Given the description of an element on the screen output the (x, y) to click on. 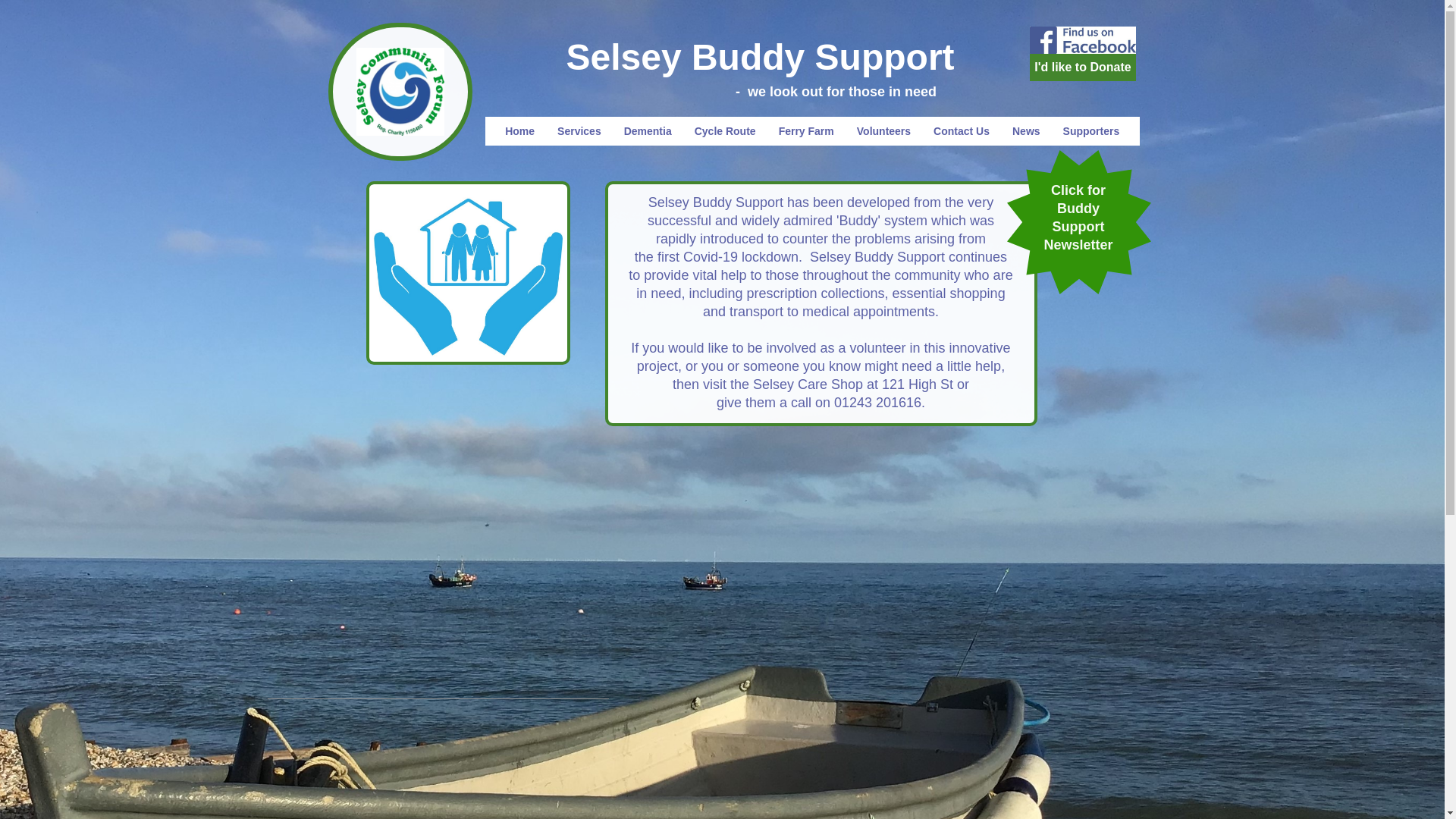
Contact Us (961, 131)
Volunteers (883, 131)
News (1026, 131)
Click for Buddy Support Newsletter (1077, 217)
Cycle Route (724, 131)
Home (519, 131)
Ferry Farm (806, 131)
Dementia (647, 131)
Services (579, 131)
Supporters (1091, 131)
I'd like to Donate (1082, 67)
